Given the description of an element on the screen output the (x, y) to click on. 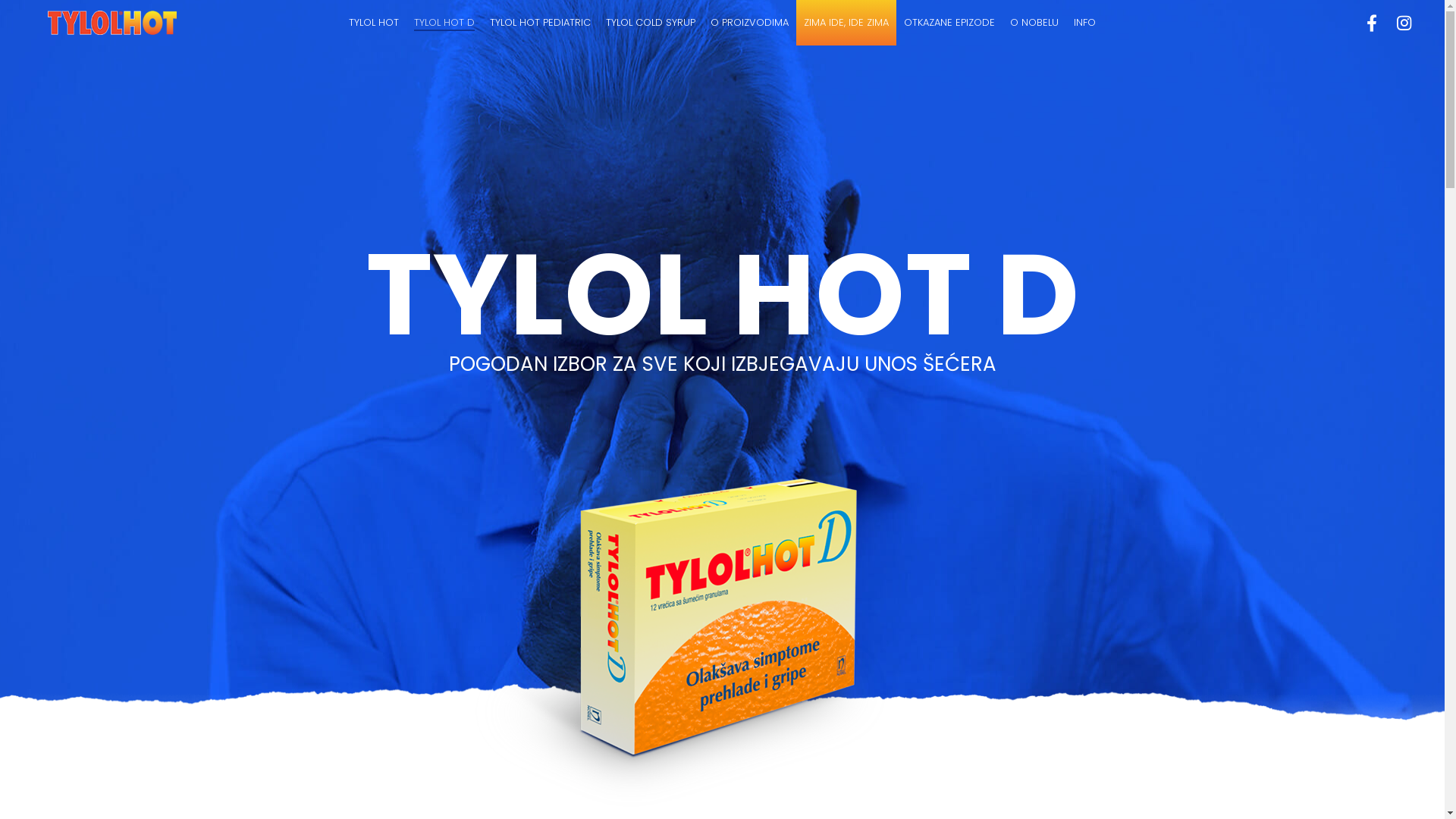
TYLOL HOT Element type: text (373, 22)
INFO Element type: text (1084, 22)
TYLOL HOT D Element type: text (444, 22)
O NOBELU Element type: text (1034, 22)
TYLOL COLD SYRUP Element type: text (650, 22)
O PROIZVODIMA Element type: text (749, 22)
OTKAZANE EPIZODE Element type: text (949, 22)
ZIMA IDE, IDE ZIMA Element type: text (846, 22)
TYLOL HOT PEDIATRIC Element type: text (540, 22)
